Given the description of an element on the screen output the (x, y) to click on. 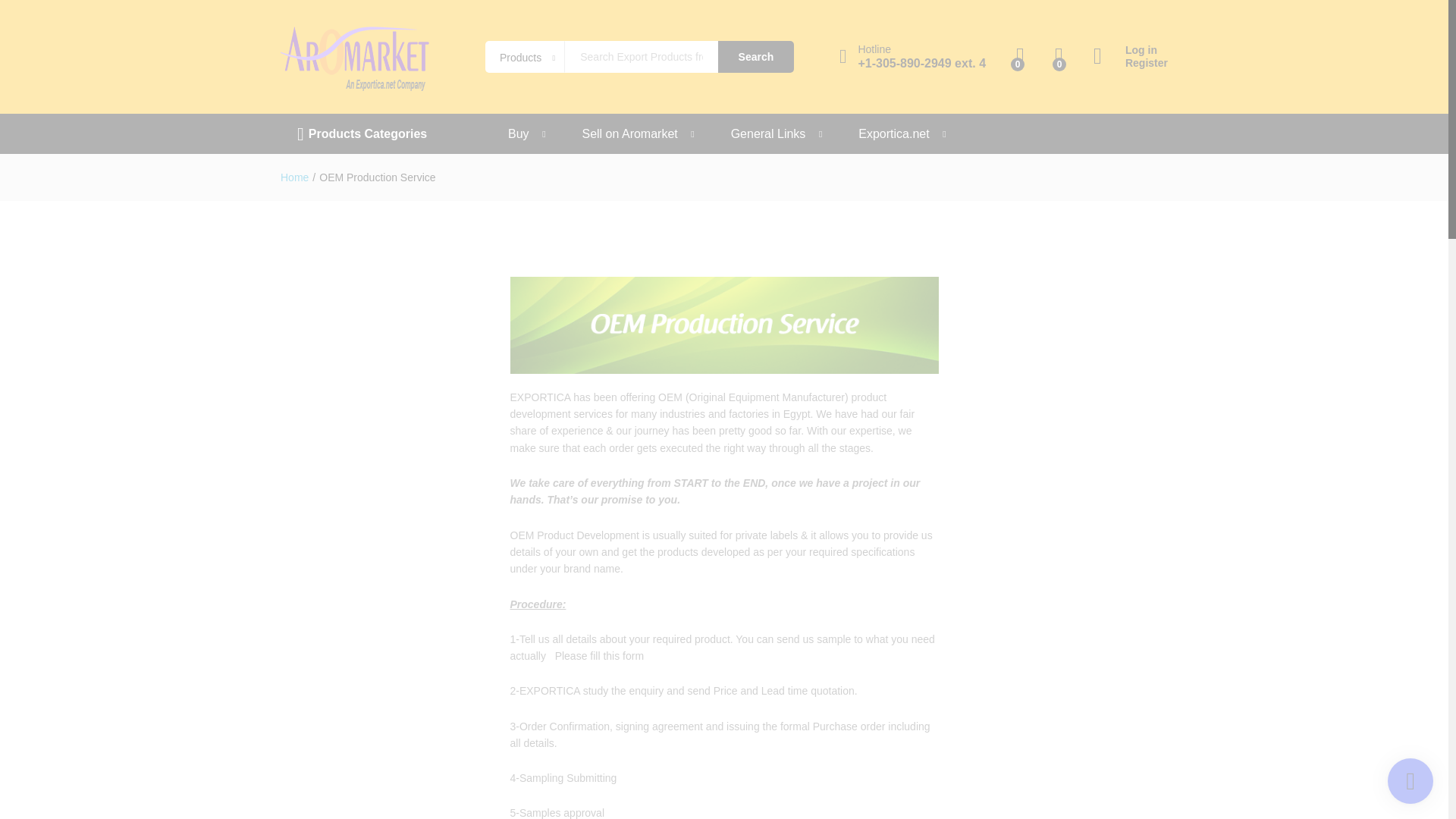
Register (1130, 62)
Log in (1130, 50)
Search (755, 56)
